Given the description of an element on the screen output the (x, y) to click on. 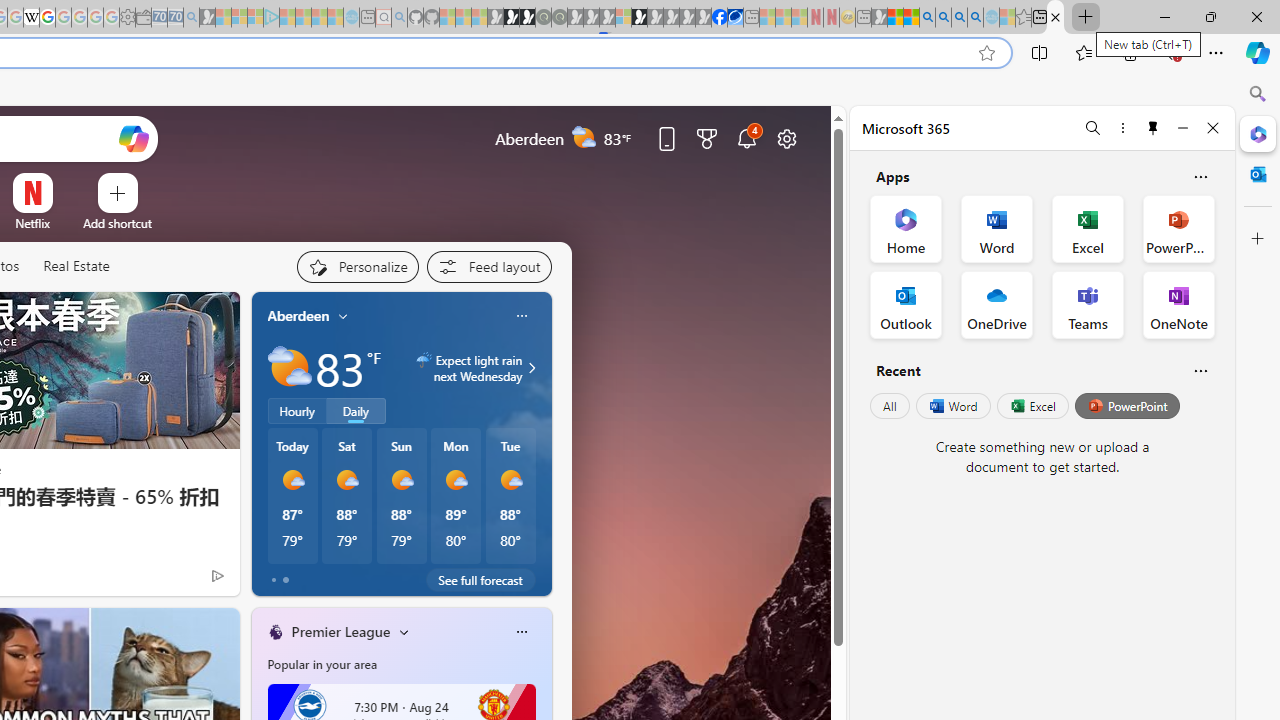
Excel (1031, 406)
Class: weather-arrow-glyph (531, 367)
Partly sunny (289, 368)
Outlook Office App (906, 304)
Close Outlook pane (1258, 174)
Bing AI - Search (927, 17)
New tab - Sleeping (863, 17)
